Given the description of an element on the screen output the (x, y) to click on. 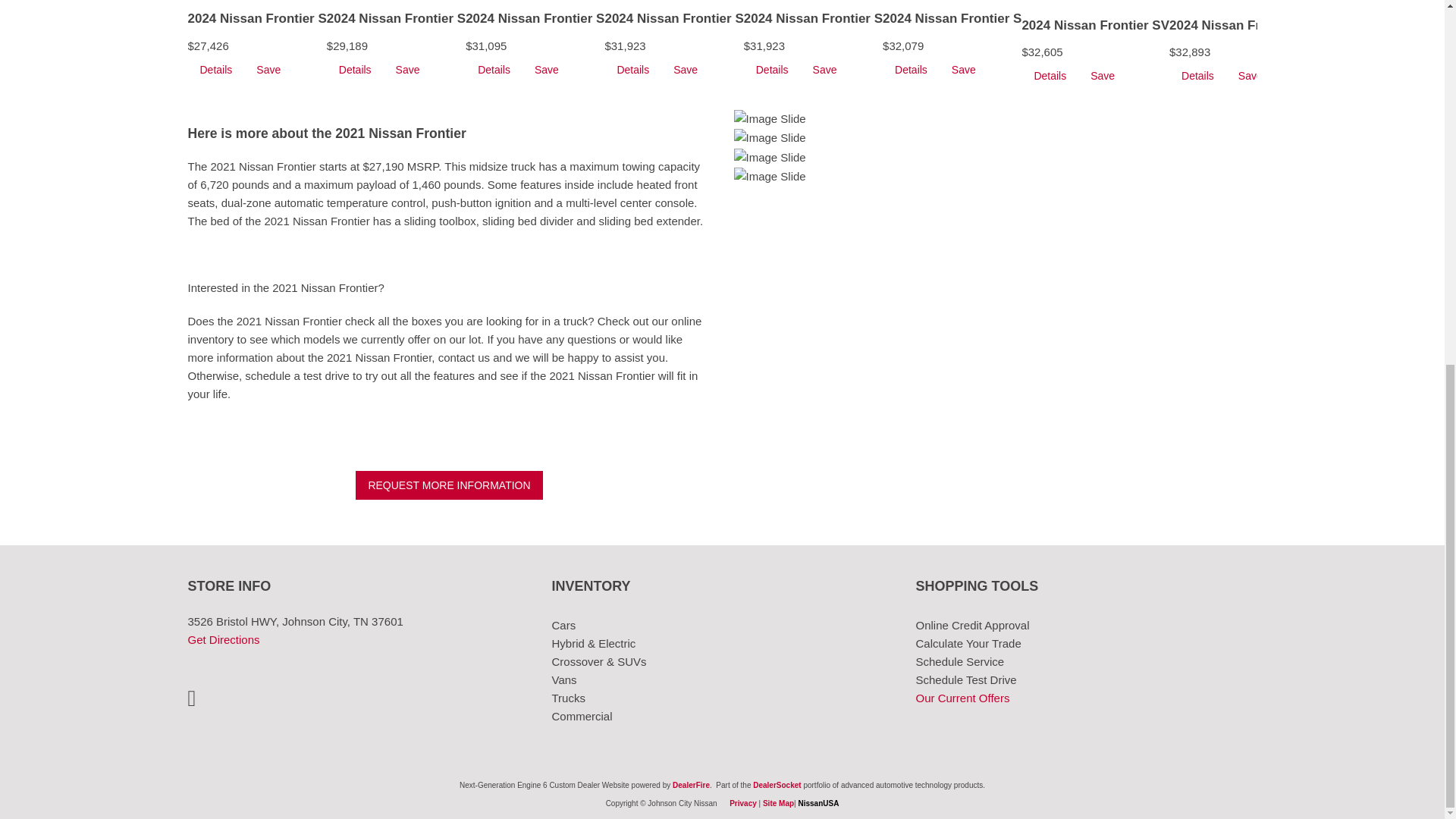
Image Slide (769, 118)
Image Slide (769, 137)
Image Slide (769, 157)
Image Slide (769, 176)
